Given the description of an element on the screen output the (x, y) to click on. 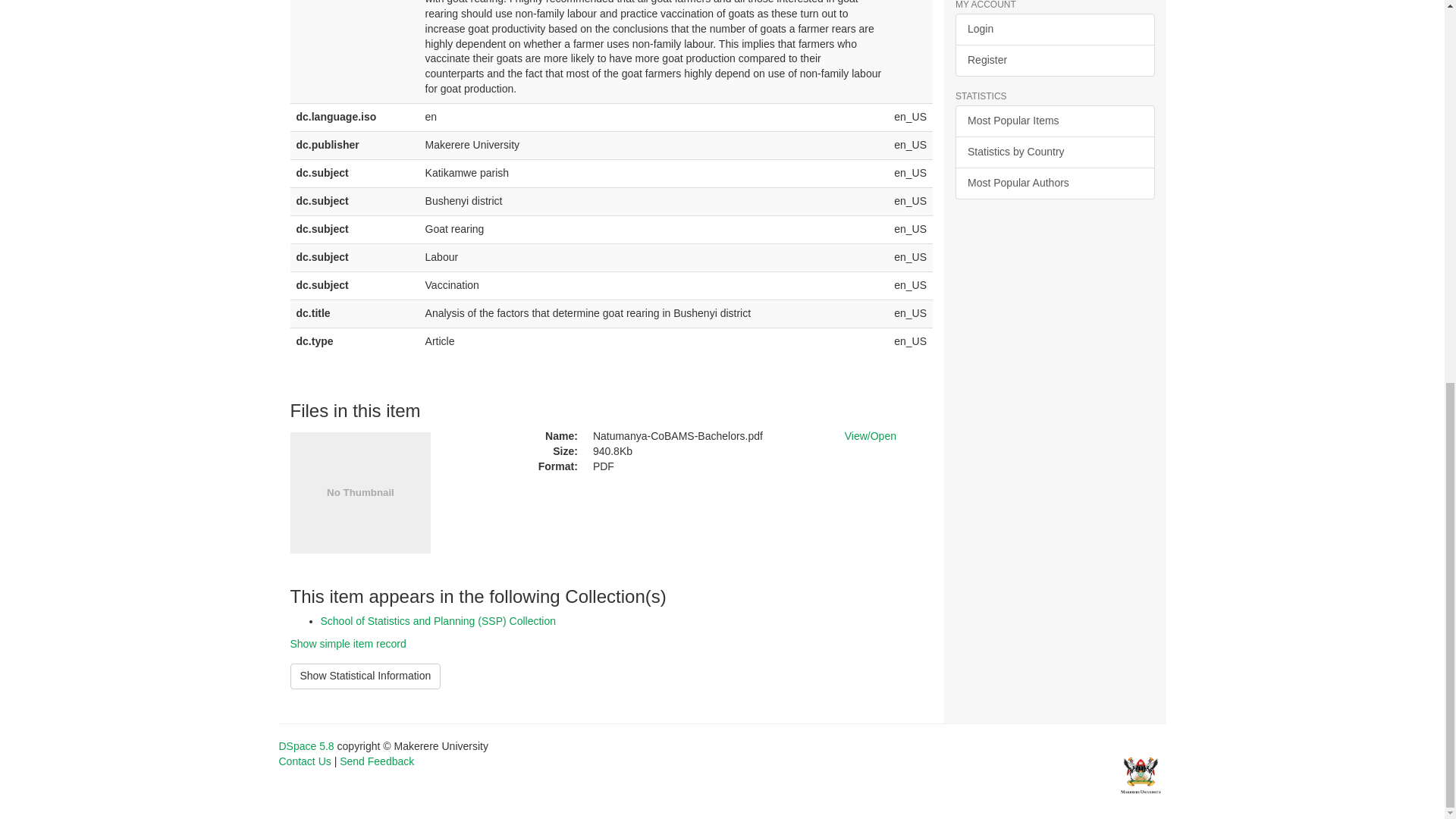
Atmire NV (1141, 774)
Show Statistical Information (365, 676)
Natumanya-CoBAMS-Bachelors.pdf (707, 436)
Show simple item record (347, 644)
